Given the description of an element on the screen output the (x, y) to click on. 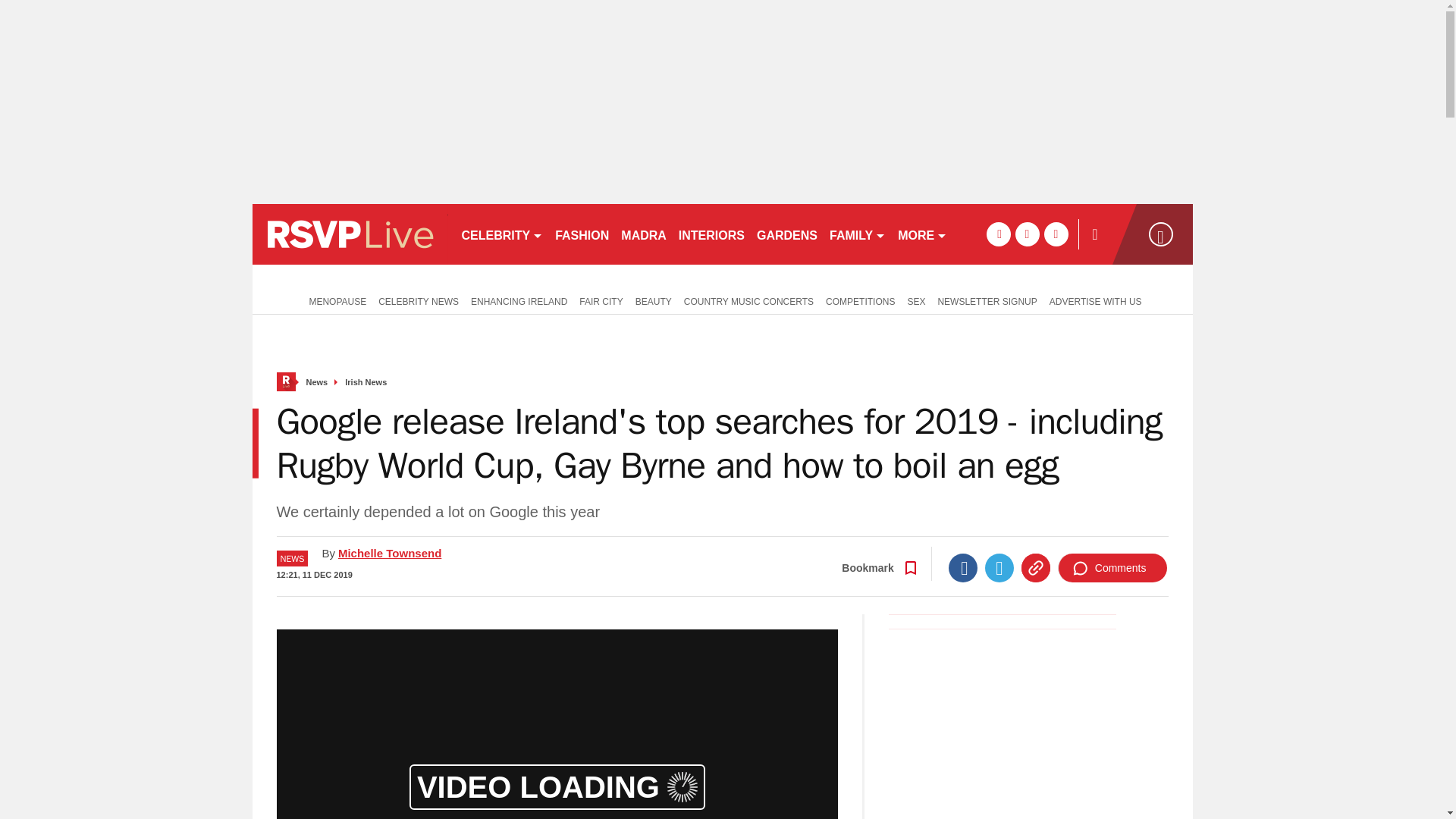
MADRA (643, 233)
INTERIORS (711, 233)
Twitter (999, 567)
Facebook (962, 567)
facebook (997, 233)
FASHION (581, 233)
Comments (1112, 567)
GARDENS (787, 233)
CELEBRITY (501, 233)
rsvp (348, 233)
